Given the description of an element on the screen output the (x, y) to click on. 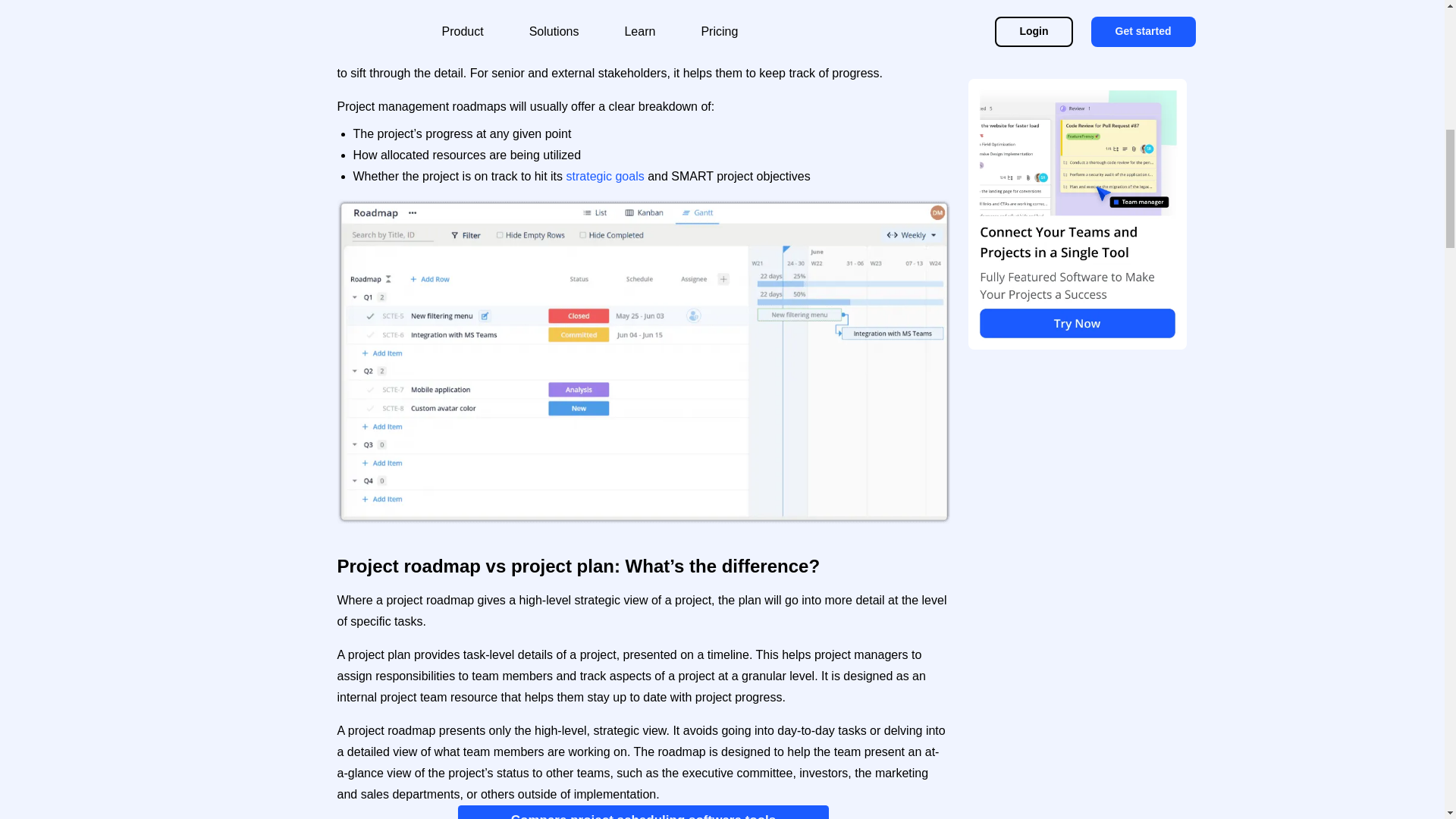
strategic goals (605, 175)
Compare project scheduling software tools (643, 812)
